Given the description of an element on the screen output the (x, y) to click on. 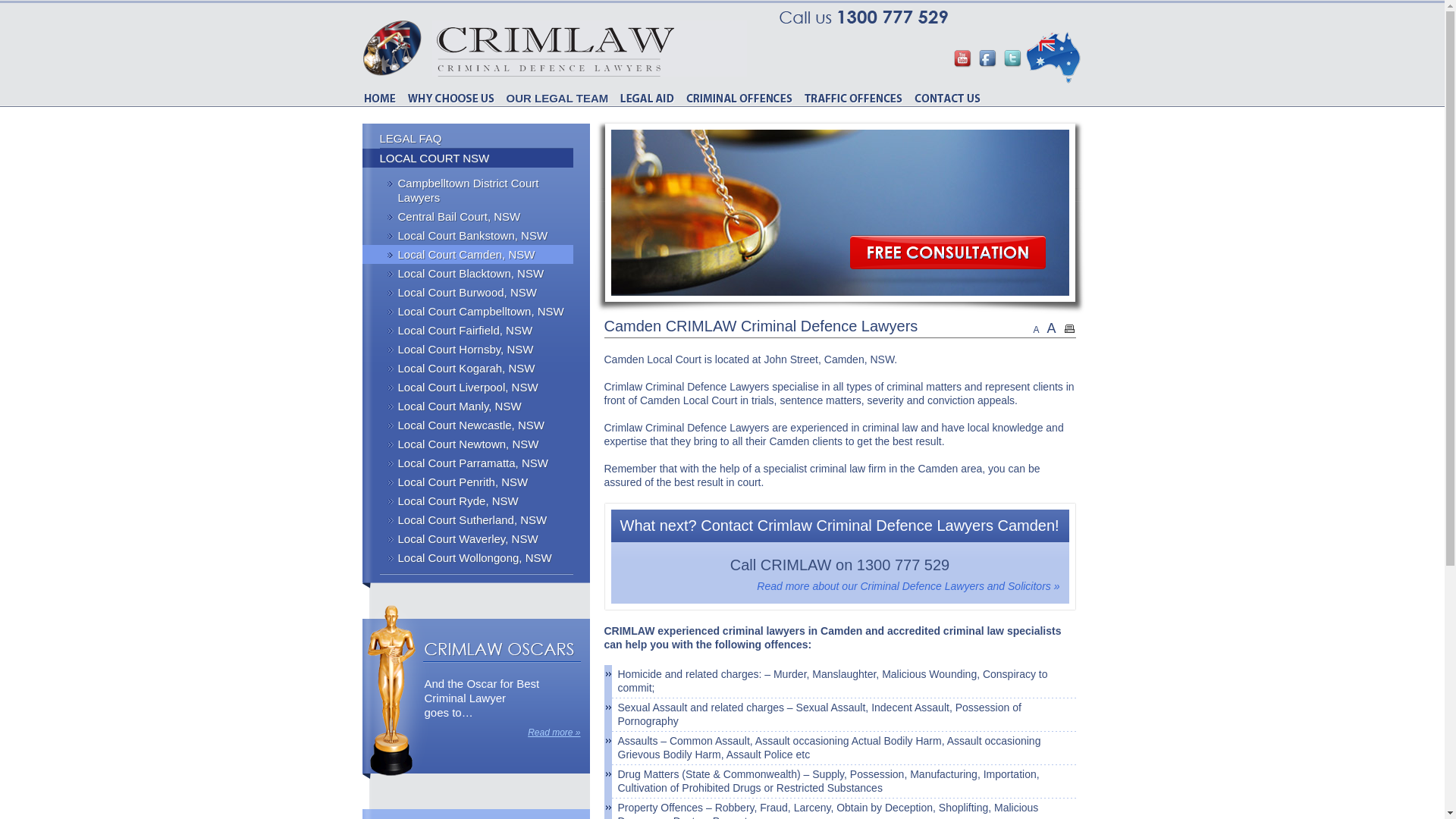
Local Court Hornsby, NSW Element type: text (467, 348)
Local Court Waverley, NSW Element type: text (467, 538)
Local Court Kogarah, NSW Element type: text (467, 367)
A Element type: text (1035, 329)
Local Court Burwood, NSW Element type: text (467, 291)
Central Bail Court, NSW Element type: text (467, 216)
Local Court Fairfield, NSW Element type: text (467, 329)
Local Court Newtown, NSW Element type: text (467, 443)
Local Court Blacktown, NSW Element type: text (467, 272)
Local Court Campbelltown, NSW Element type: text (467, 310)
Local Court Liverpool, NSW Element type: text (467, 386)
Local Court Manly, NSW Element type: text (467, 405)
LOCAL COURT NSW Element type: text (467, 157)
Local Court Penrith, NSW Element type: text (467, 481)
Local Court Newcastle, NSW Element type: text (467, 424)
Local Court Parramatta, NSW Element type: text (467, 462)
LEGAL FAQ Element type: text (467, 137)
Local Court Camden, NSW Element type: text (467, 253)
Campbelltown District Court Lawyers Element type: text (467, 190)
Local Court Ryde, NSW Element type: text (467, 500)
Local Court Wollongong, NSW Element type: text (467, 557)
OUR LEGAL TEAM Element type: text (557, 98)
A Element type: text (1050, 328)
Local Court Bankstown, NSW Element type: text (467, 234)
Local Court Sutherland, NSW Element type: text (467, 519)
